Given the description of an element on the screen output the (x, y) to click on. 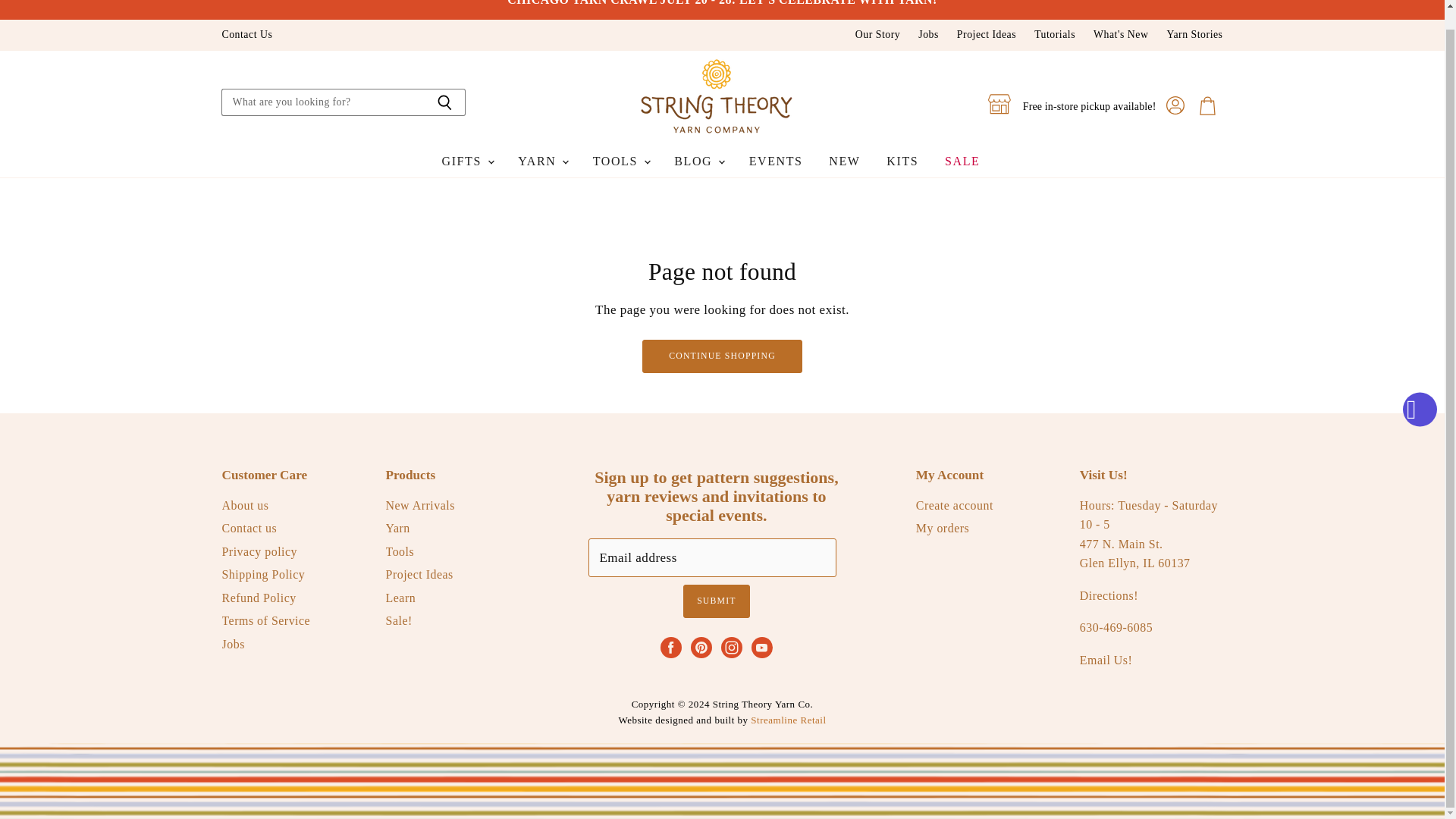
View cart (1207, 105)
Yarn Stories (1194, 34)
Facebook (671, 646)
Tutorials (1054, 34)
Contact Us (246, 34)
Youtube (762, 646)
Jobs (928, 34)
Project Ideas (986, 34)
GIFTS (466, 160)
Instagram (731, 646)
View account (1175, 105)
Our Story (877, 34)
tel:630-469-6085 (1116, 626)
Store icon (999, 103)
What's New (1120, 34)
